Given the description of an element on the screen output the (x, y) to click on. 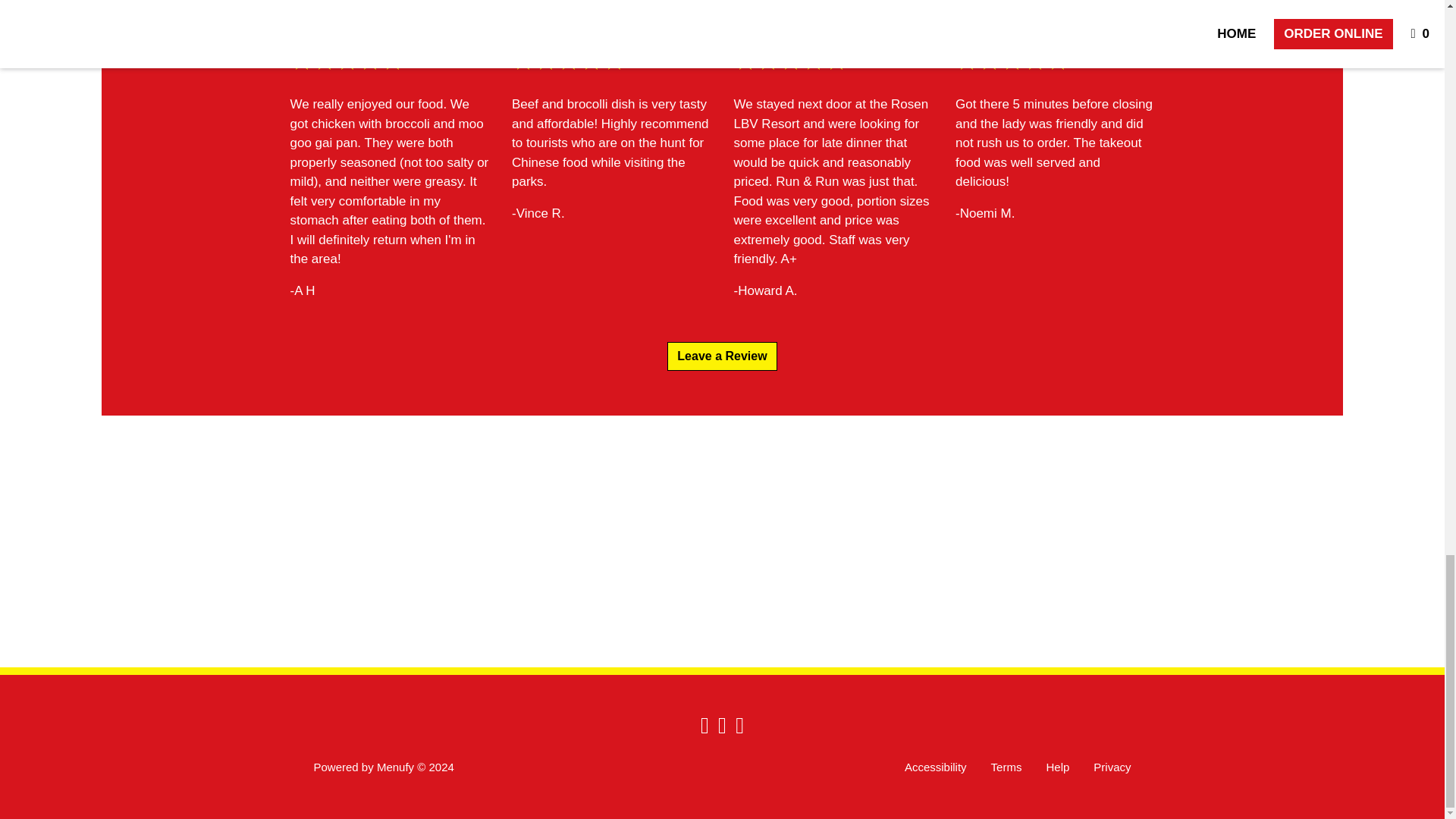
Help (1057, 767)
Menufy (395, 766)
Terms (1005, 767)
Leave a Review (721, 356)
Privacy (1111, 767)
Accessibility (935, 767)
